Given the description of an element on the screen output the (x, y) to click on. 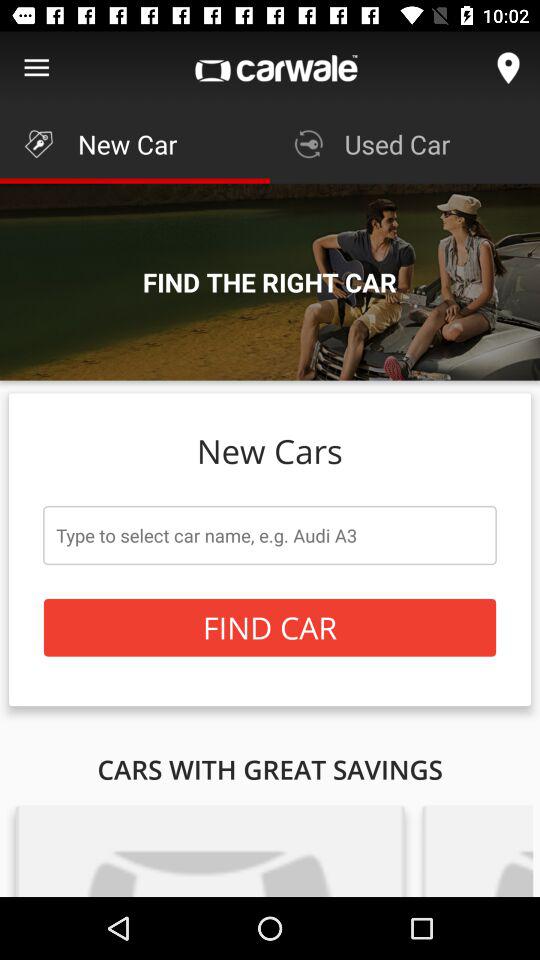
turn off item below new cars icon (269, 535)
